Given the description of an element on the screen output the (x, y) to click on. 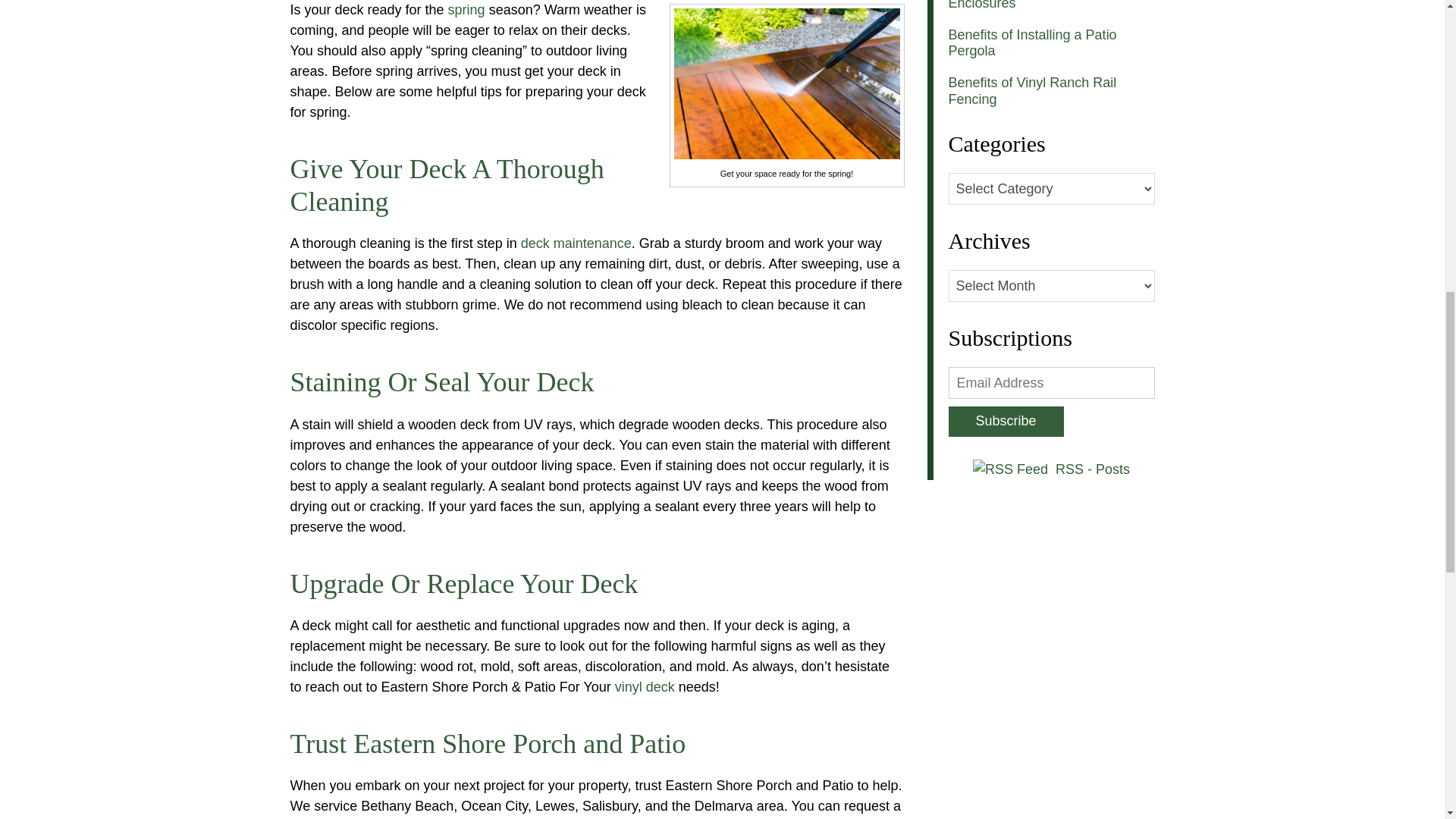
Subscribe (1004, 421)
Subscribe to Posts (1011, 468)
Subscribe to Posts (1092, 468)
